Given the description of an element on the screen output the (x, y) to click on. 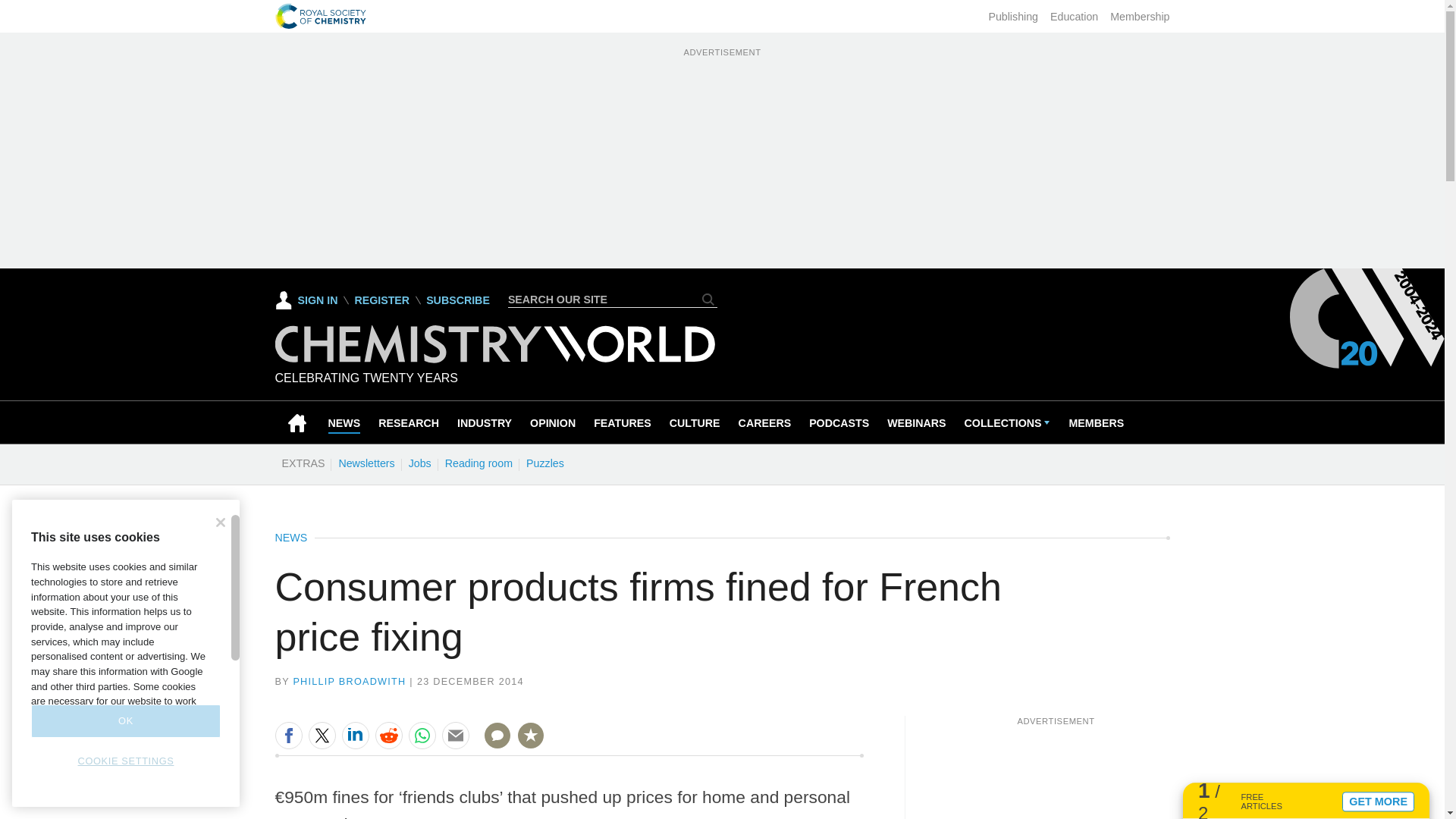
Education (1073, 16)
Newsletters (366, 463)
Share this on LinkedIn (354, 735)
Jobs (419, 463)
Chemistry World (494, 343)
Share this on WhatsApp (421, 735)
Publishing (1013, 16)
Reading room (478, 463)
NO COMMENTS (492, 744)
Membership (1139, 16)
SIGN IN (306, 300)
3rd party ad content (1055, 772)
Puzzles (544, 463)
REGISTER (381, 300)
Chemistry World (494, 358)
